Given the description of an element on the screen output the (x, y) to click on. 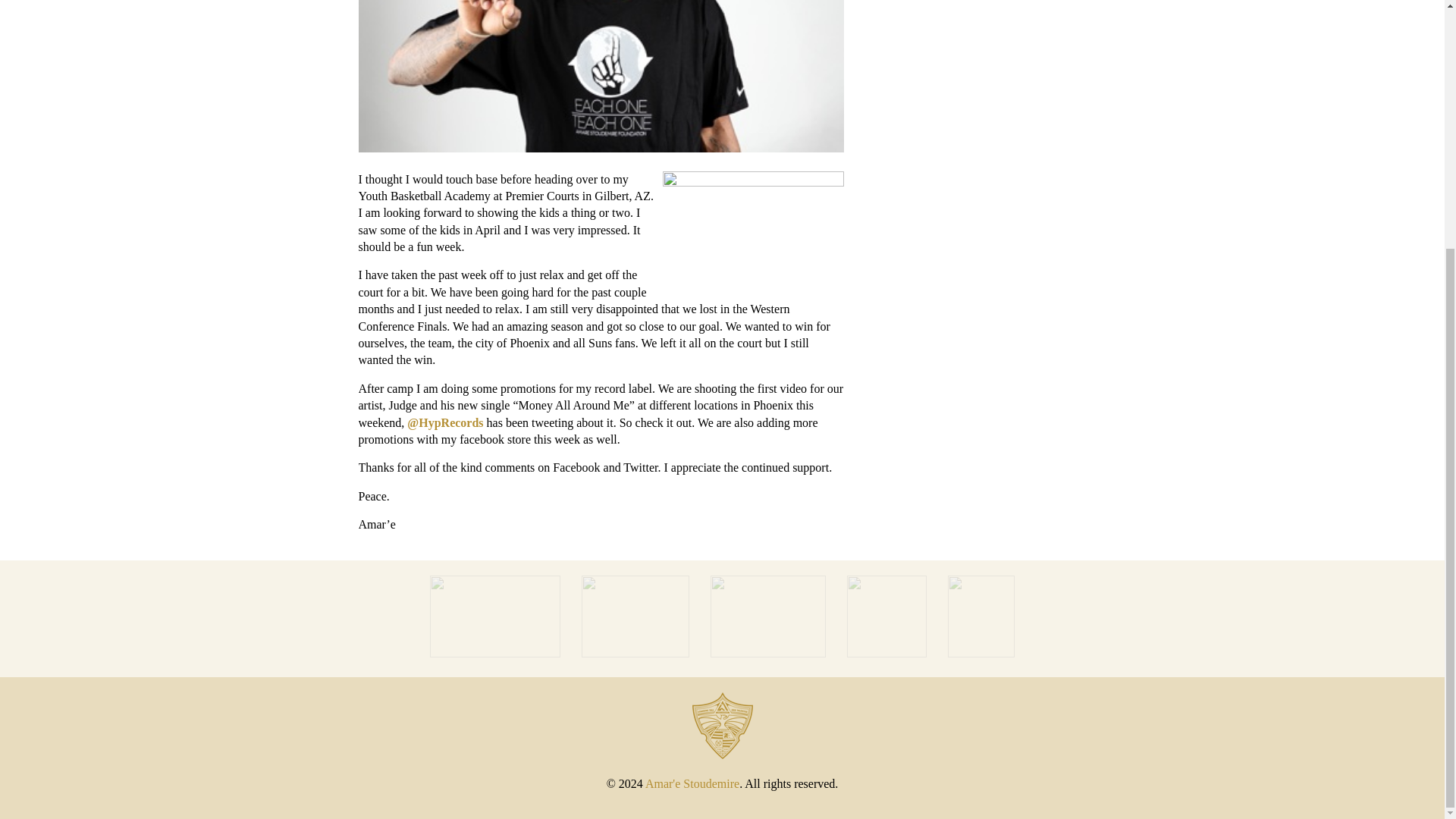
Amar'e Stoudemire (692, 783)
Eboost (888, 653)
Zico (496, 653)
Scholastic (636, 653)
Nike (769, 653)
Sheets (981, 653)
